Given the description of an element on the screen output the (x, y) to click on. 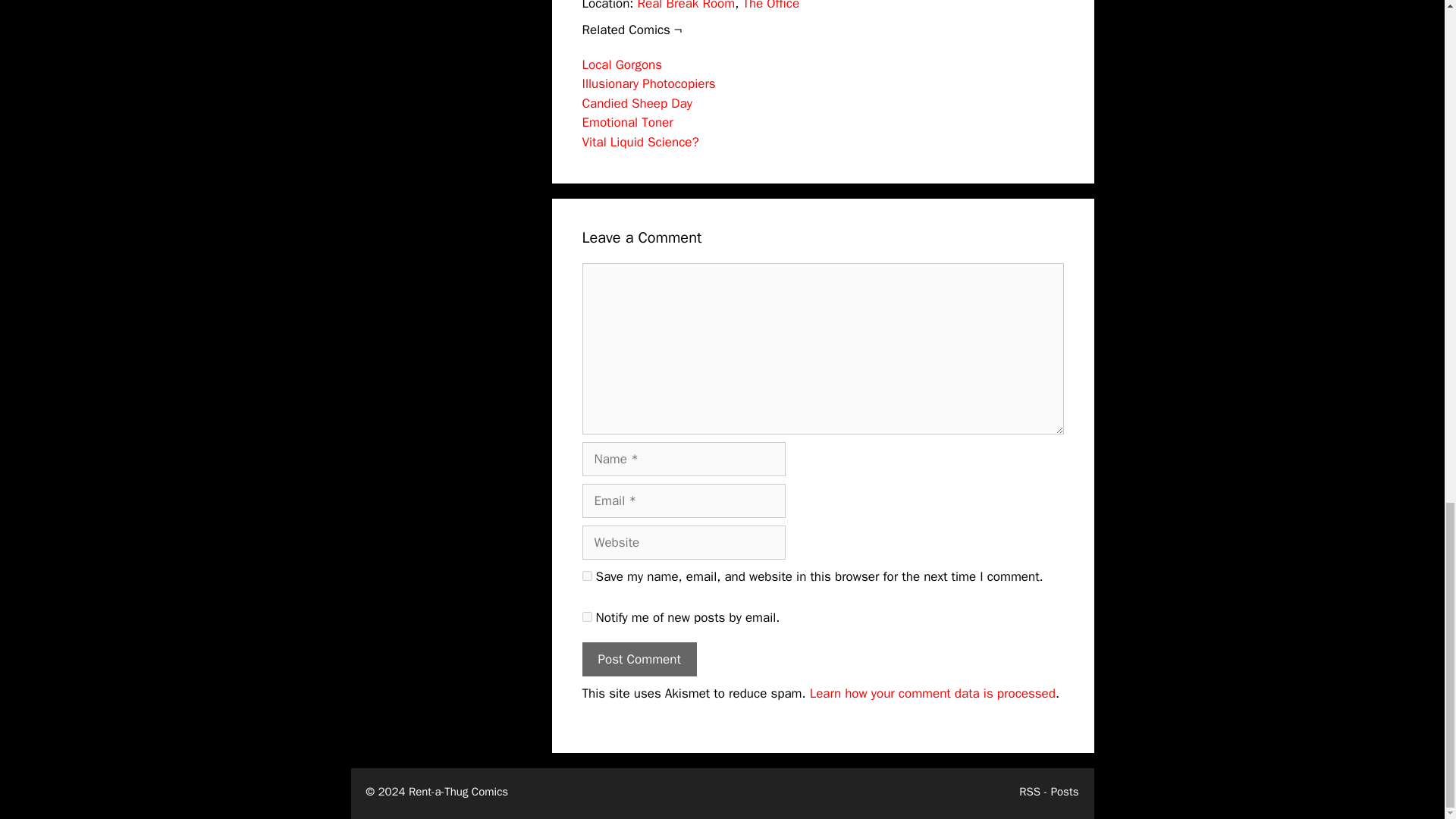
Emotional Toner (627, 122)
Emotional Toner (627, 122)
yes (587, 575)
Local Gorgons (622, 64)
Local Gorgons (622, 64)
Illusionary Photocopiers (649, 83)
Subscribe to posts (1048, 791)
Learn how your comment data is processed (932, 693)
The Office (770, 5)
Vital Liquid Science? (640, 141)
Real Break Room (686, 5)
Post Comment (639, 659)
Vital Liquid Science? (640, 141)
Candied Sheep Day (637, 103)
Illusionary Photocopiers (649, 83)
